Given the description of an element on the screen output the (x, y) to click on. 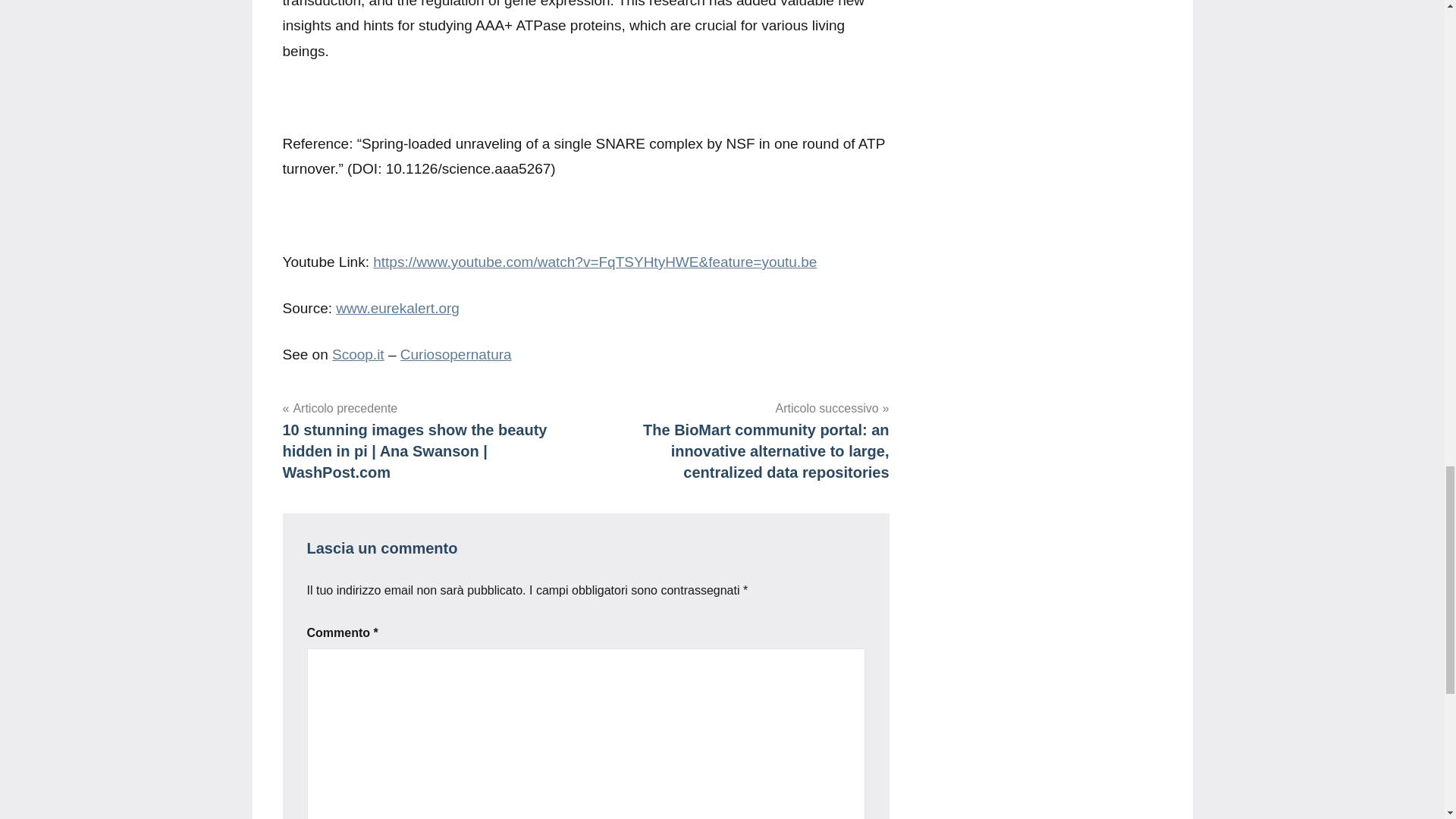
Scoop.it (357, 354)
Curiosopernatura (456, 354)
www.eurekalert.org (398, 308)
